Given the description of an element on the screen output the (x, y) to click on. 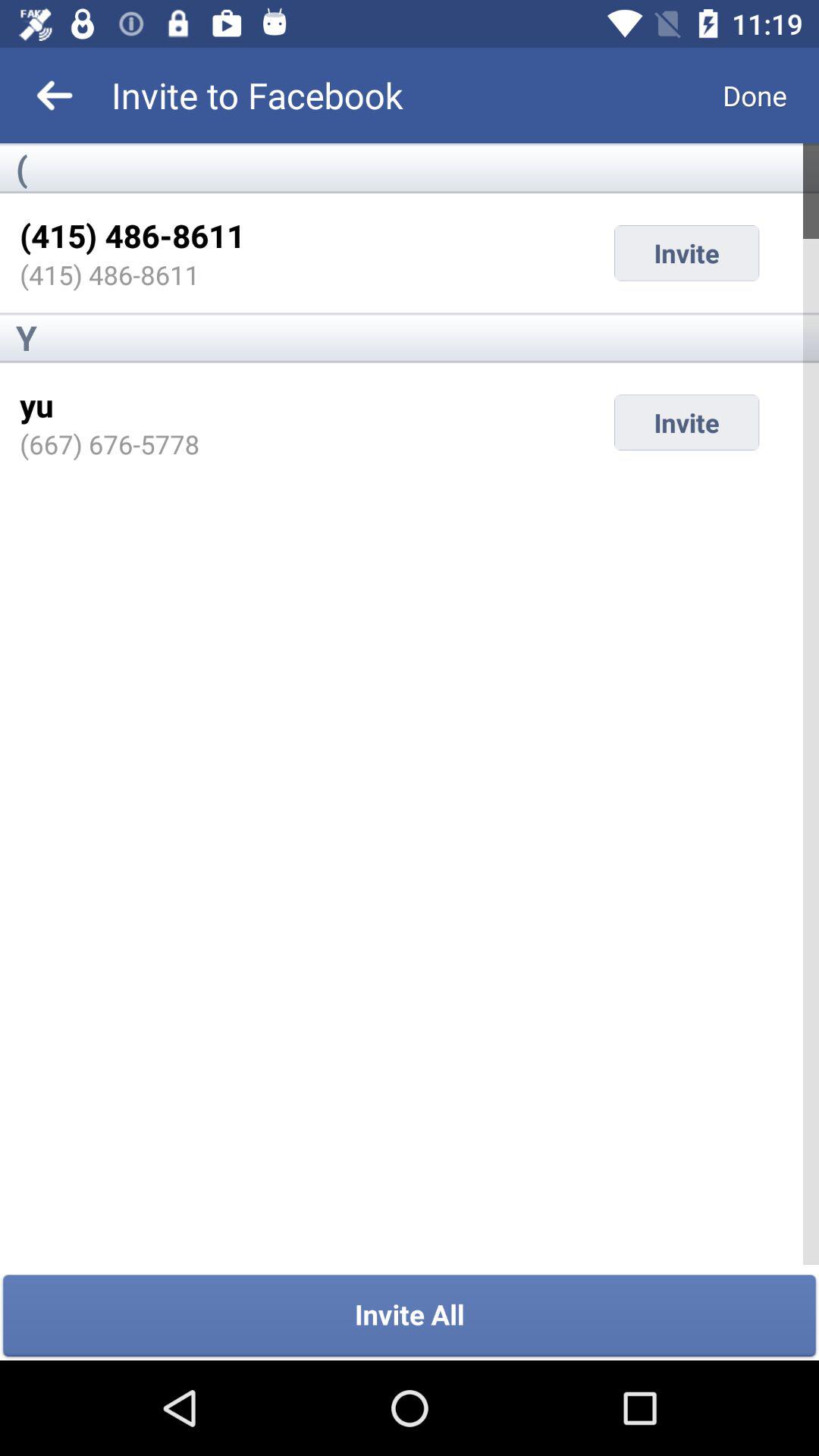
choose item next to invite to facebook (755, 95)
